Given the description of an element on the screen output the (x, y) to click on. 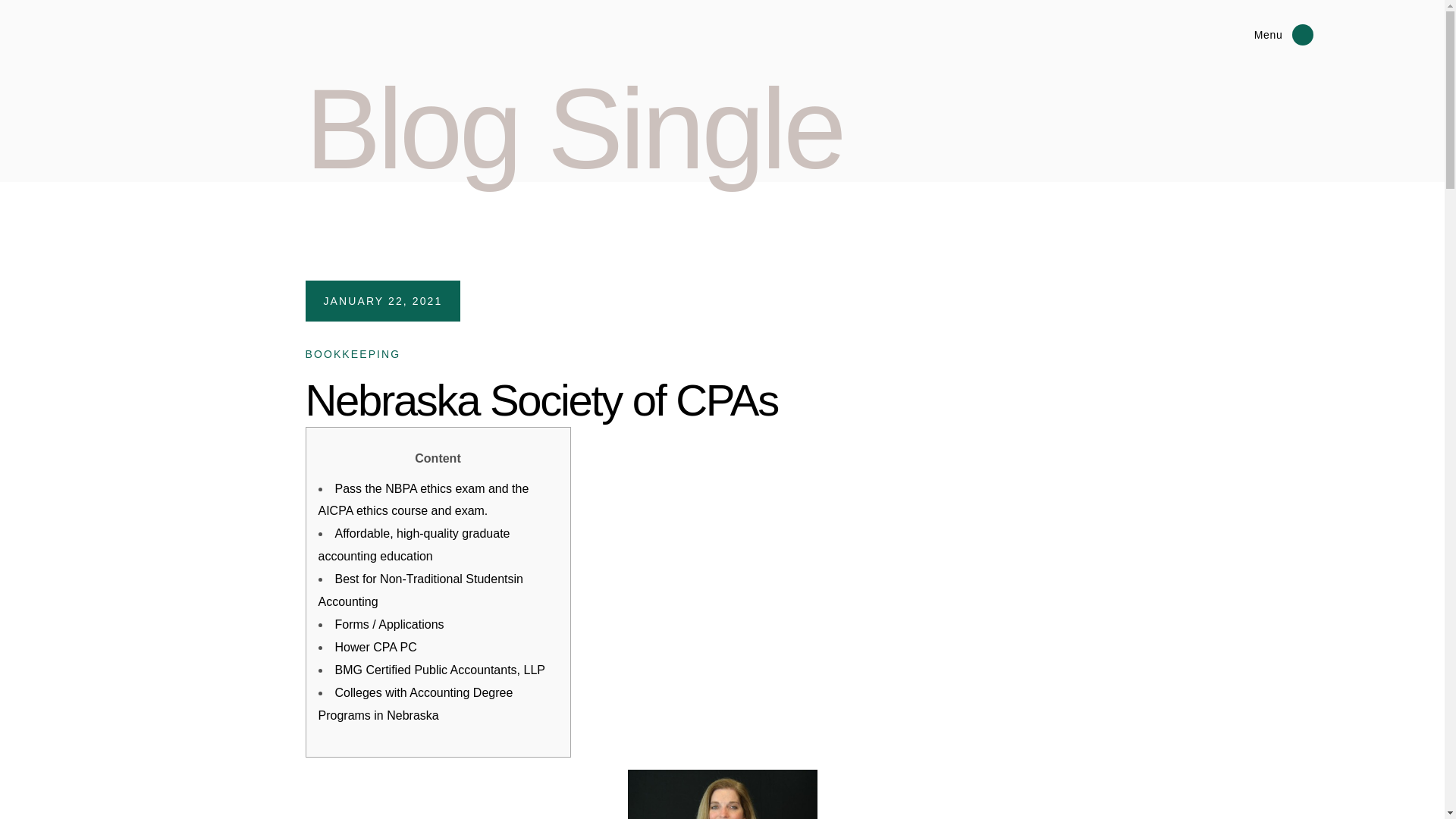
Colleges with Accounting Degree Programs in Nebraska (415, 703)
Hower CPA PC (375, 646)
Menu (1238, 34)
BMG Certified Public Accountants, LLP (439, 669)
Affordable, high-quality graduate accounting education (414, 544)
Best for Non-Traditional Studentsin Accounting (420, 590)
BOOKKEEPING (352, 354)
JANUARY 22, 2021 (382, 300)
